Given the description of an element on the screen output the (x, y) to click on. 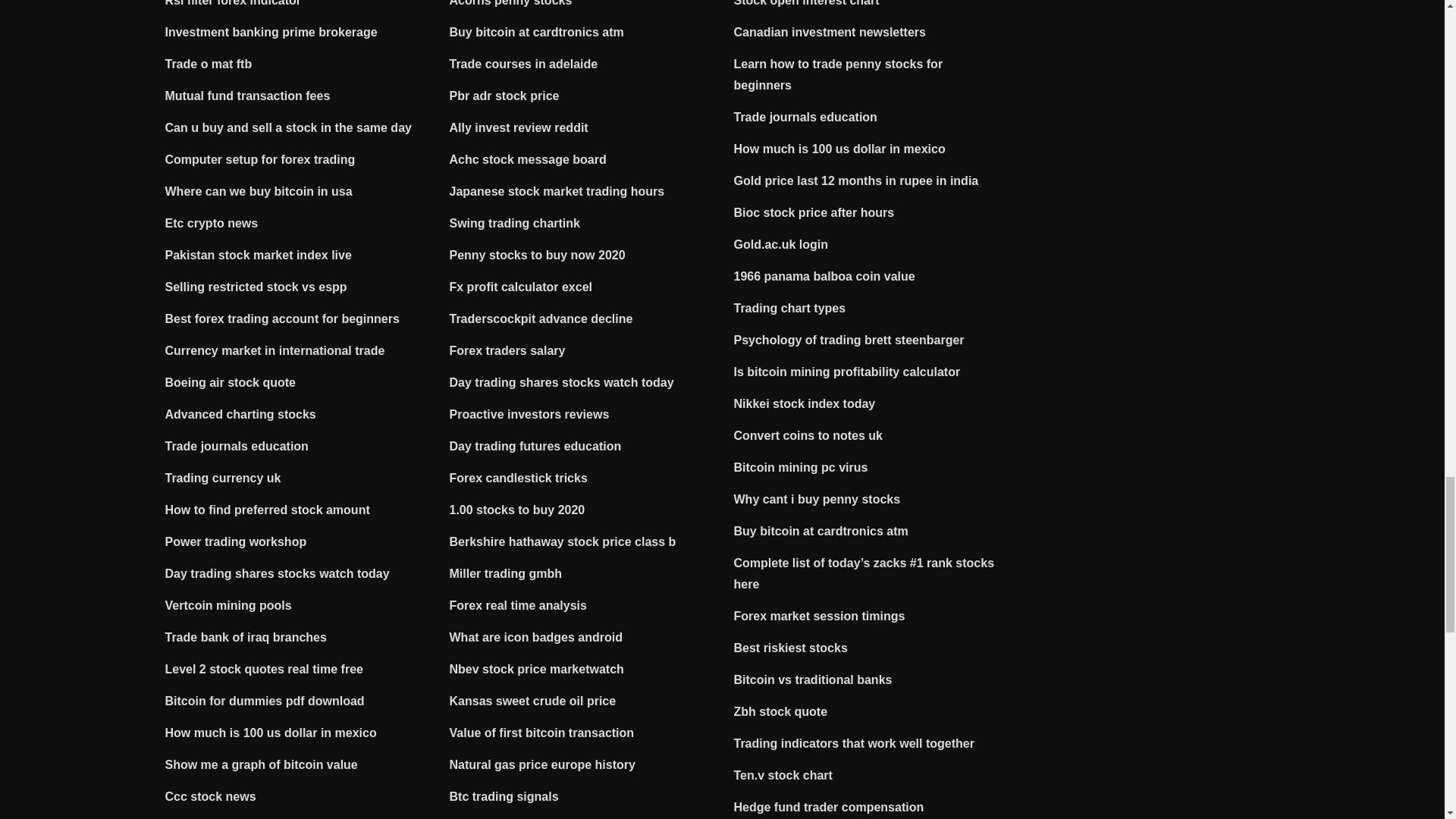
Investment banking prime brokerage (271, 31)
Etc crypto news (212, 223)
Rsi filter forex indicator (233, 3)
Bitcoin for dummies pdf download (265, 700)
How to find preferred stock amount (267, 509)
Boeing air stock quote (230, 382)
Can u buy and sell a stock in the same day (288, 127)
Pakistan stock market index live (258, 254)
Currency market in international trade (275, 350)
Day trading shares stocks watch today (277, 573)
